Given the description of an element on the screen output the (x, y) to click on. 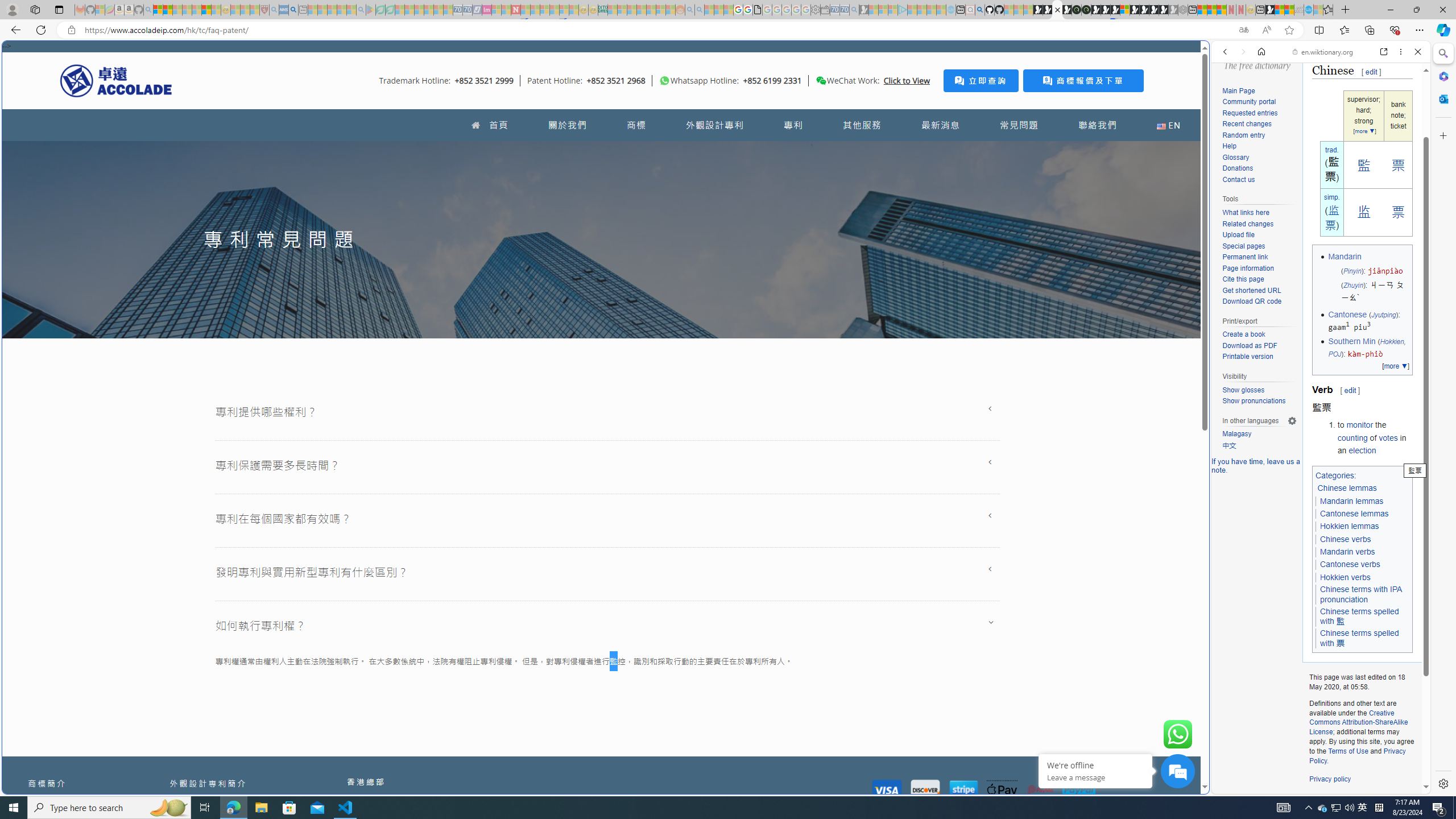
Language settings (1292, 420)
edit (1349, 389)
Show glosses (1259, 390)
Get shortened URL (1251, 289)
Recent changes (1259, 124)
Community portal (1248, 101)
